Given the description of an element on the screen output the (x, y) to click on. 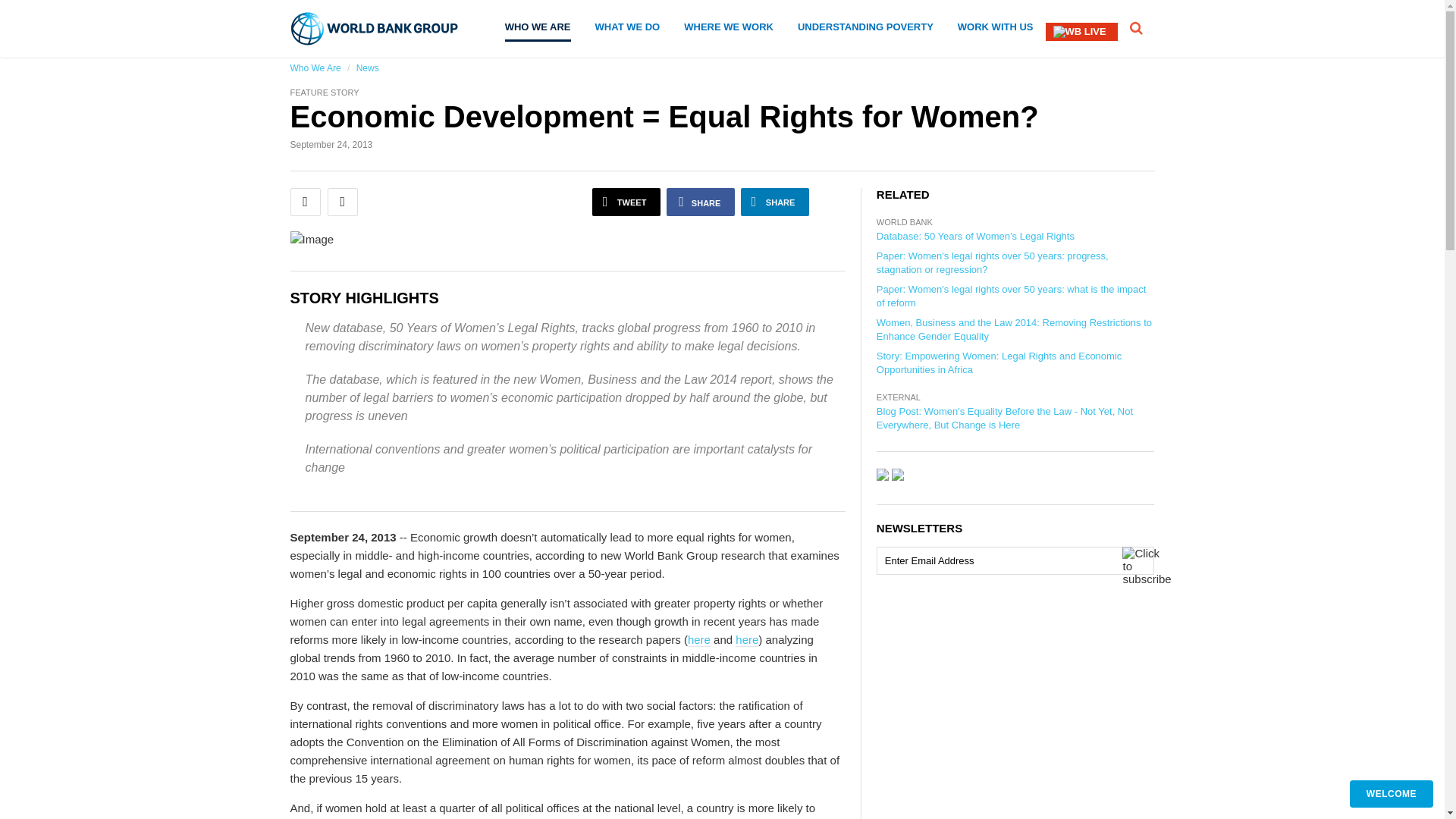
Facebook (700, 202)
Email (304, 202)
Enter Email Address (1015, 560)
Tweet (626, 202)
WHAT WE DO (628, 30)
Enter Email Address (1015, 560)
Share (775, 202)
WHO WE ARE (537, 31)
Print (342, 202)
The World Bank Working for a World Free of Poverty (374, 28)
